Given the description of an element on the screen output the (x, y) to click on. 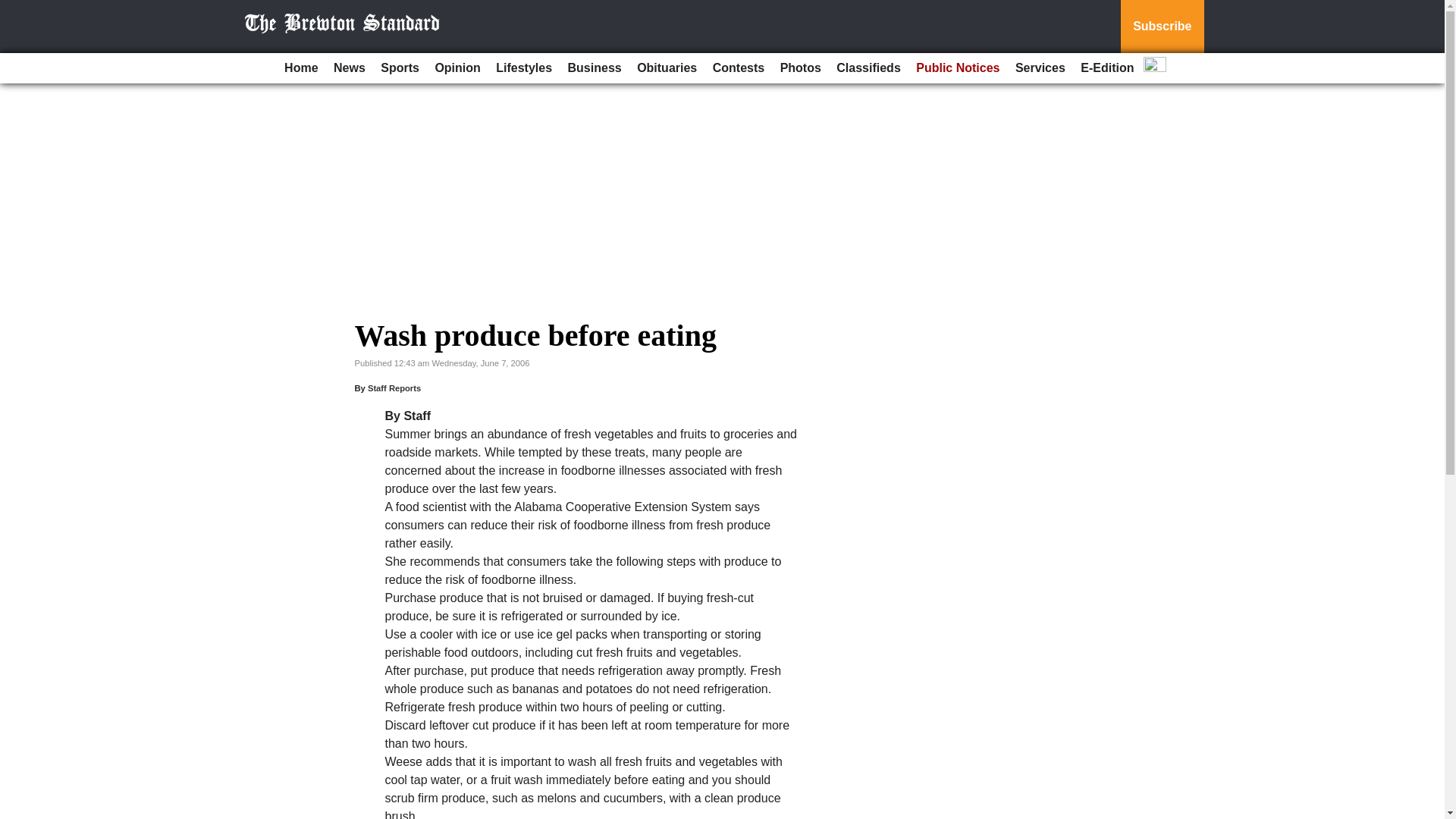
Obituaries (666, 68)
Subscribe (1162, 26)
Go (13, 9)
Home (300, 68)
Business (594, 68)
Public Notices (958, 68)
Sports (399, 68)
Staff Reports (394, 388)
E-Edition (1107, 68)
Photos (800, 68)
Services (1040, 68)
News (349, 68)
Opinion (457, 68)
Contests (738, 68)
Classifieds (867, 68)
